Given the description of an element on the screen output the (x, y) to click on. 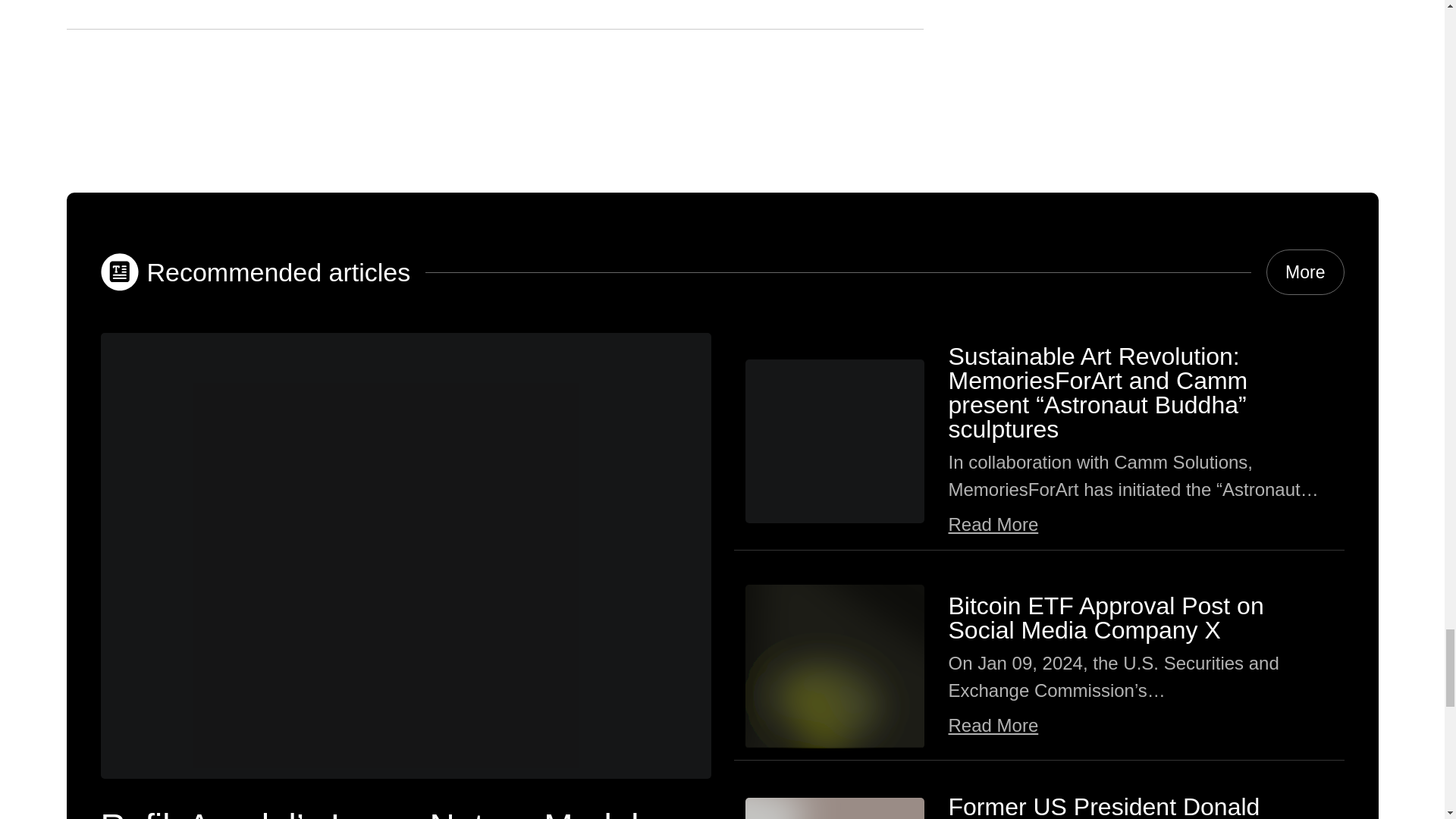
Read More (992, 524)
More (1304, 271)
Bitcoin ETF Approval Post on Social Media Company X (1105, 617)
